Given the description of an element on the screen output the (x, y) to click on. 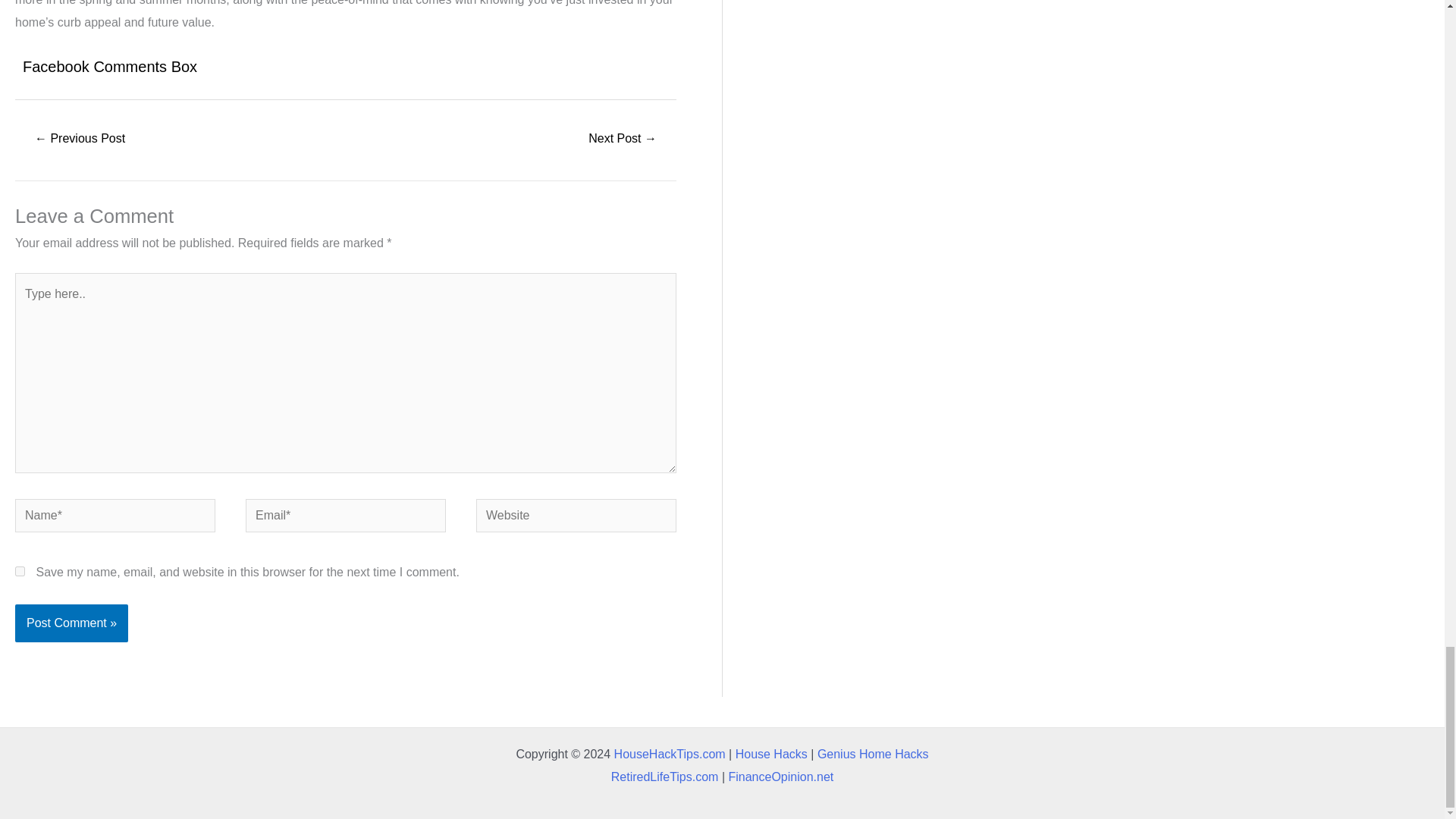
Should You Refinance Your Mortgage? (79, 139)
yes (19, 571)
